Given the description of an element on the screen output the (x, y) to click on. 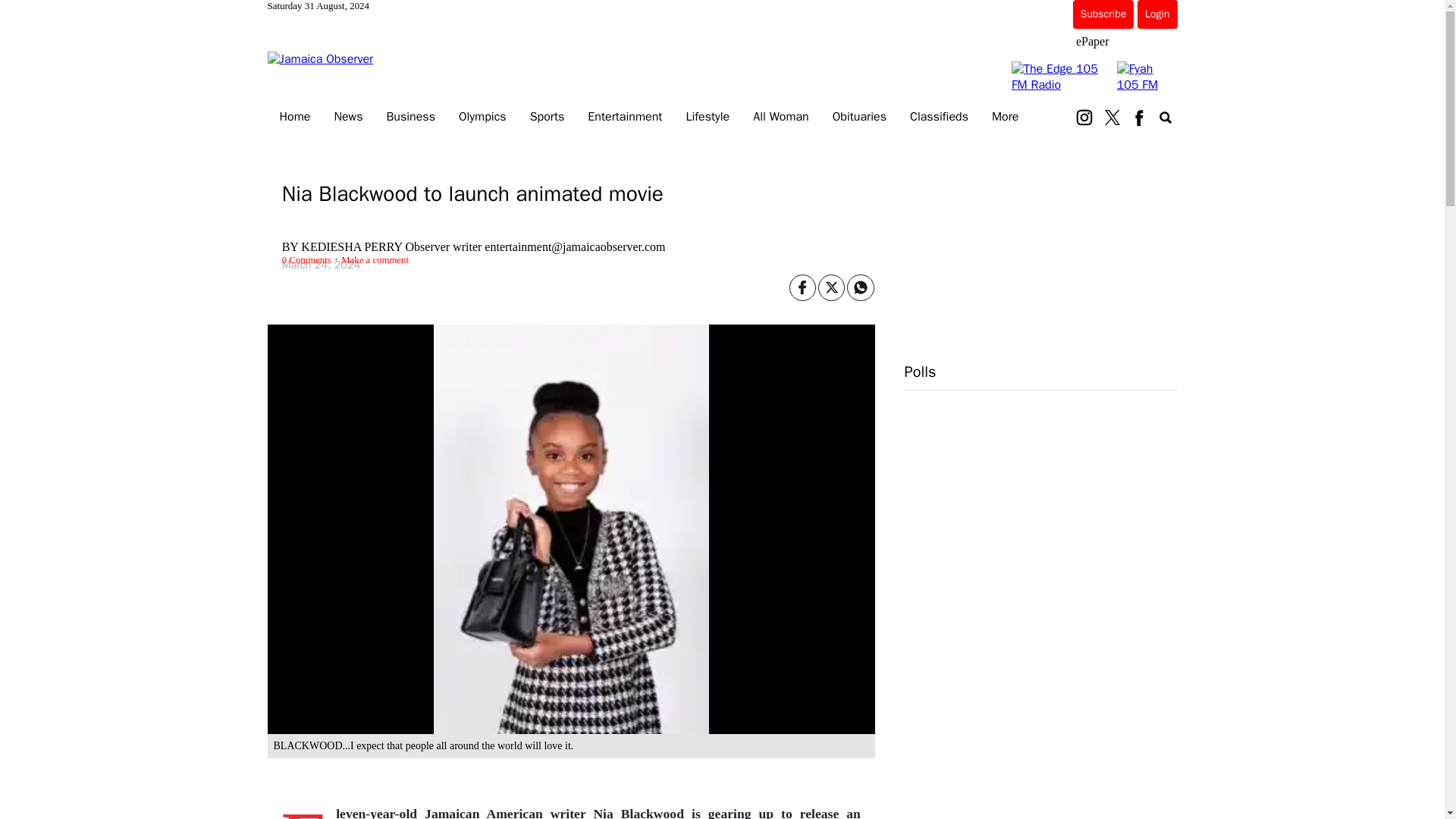
ePaper (1092, 41)
Subscribe (1103, 14)
Login (1156, 14)
